Given the description of an element on the screen output the (x, y) to click on. 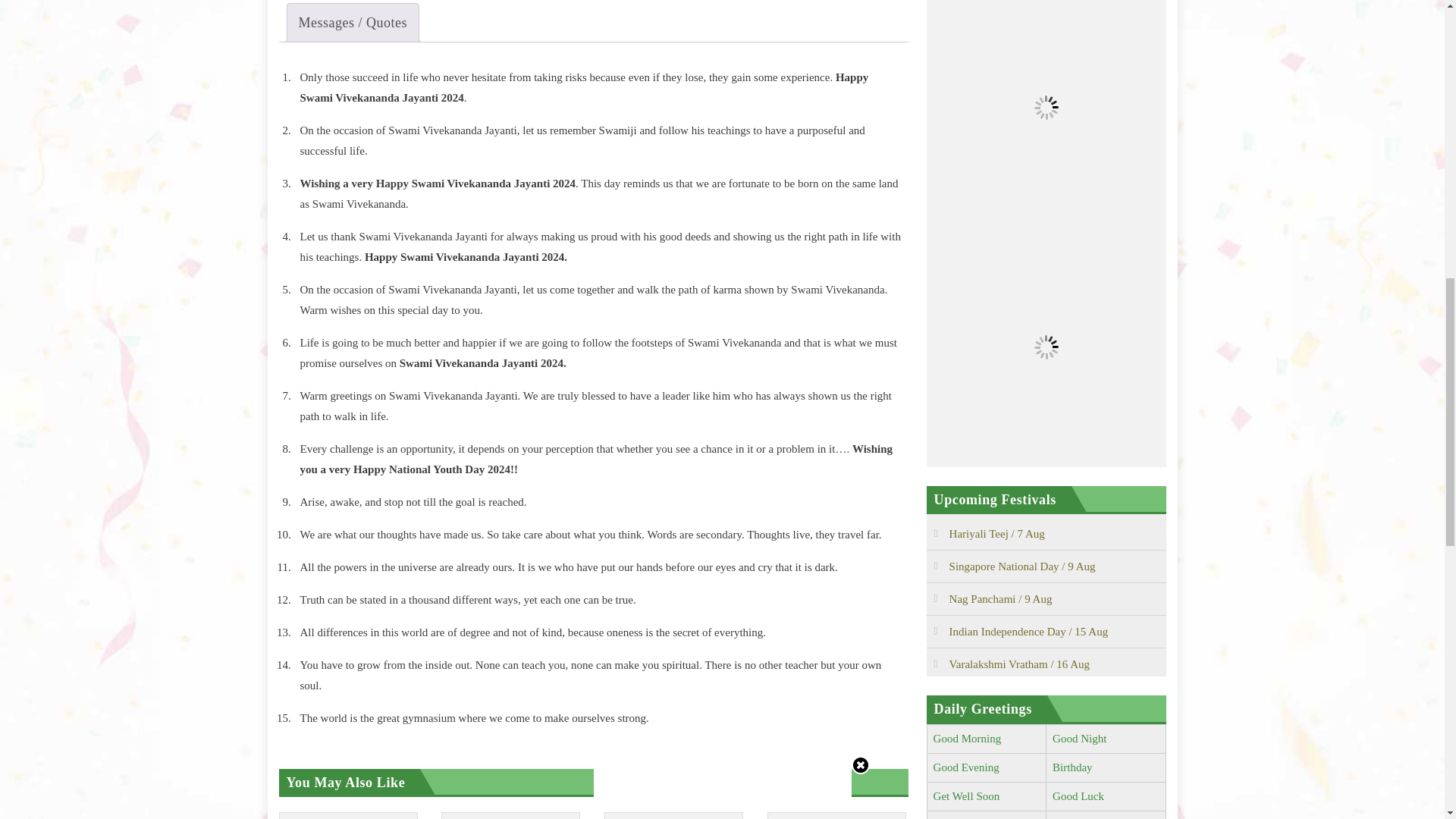
Happy Birthday (1072, 767)
Good Night (1079, 738)
Good Morning (967, 738)
Good Evening (965, 767)
Get Well Soon (966, 796)
